Given the description of an element on the screen output the (x, y) to click on. 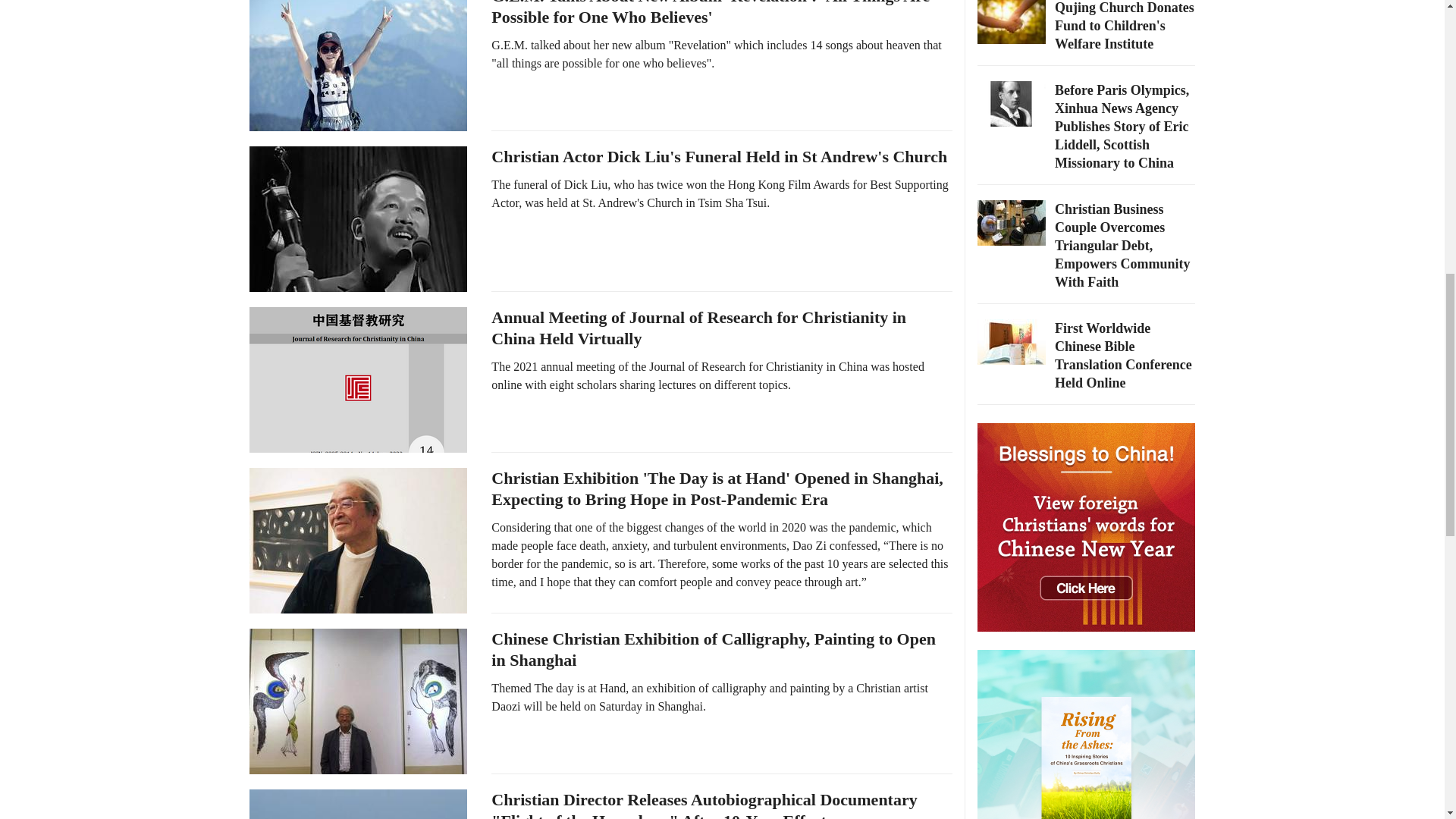
Qujing Church Donates Fund to Children's Welfare Institute (1123, 25)
